Given the description of an element on the screen output the (x, y) to click on. 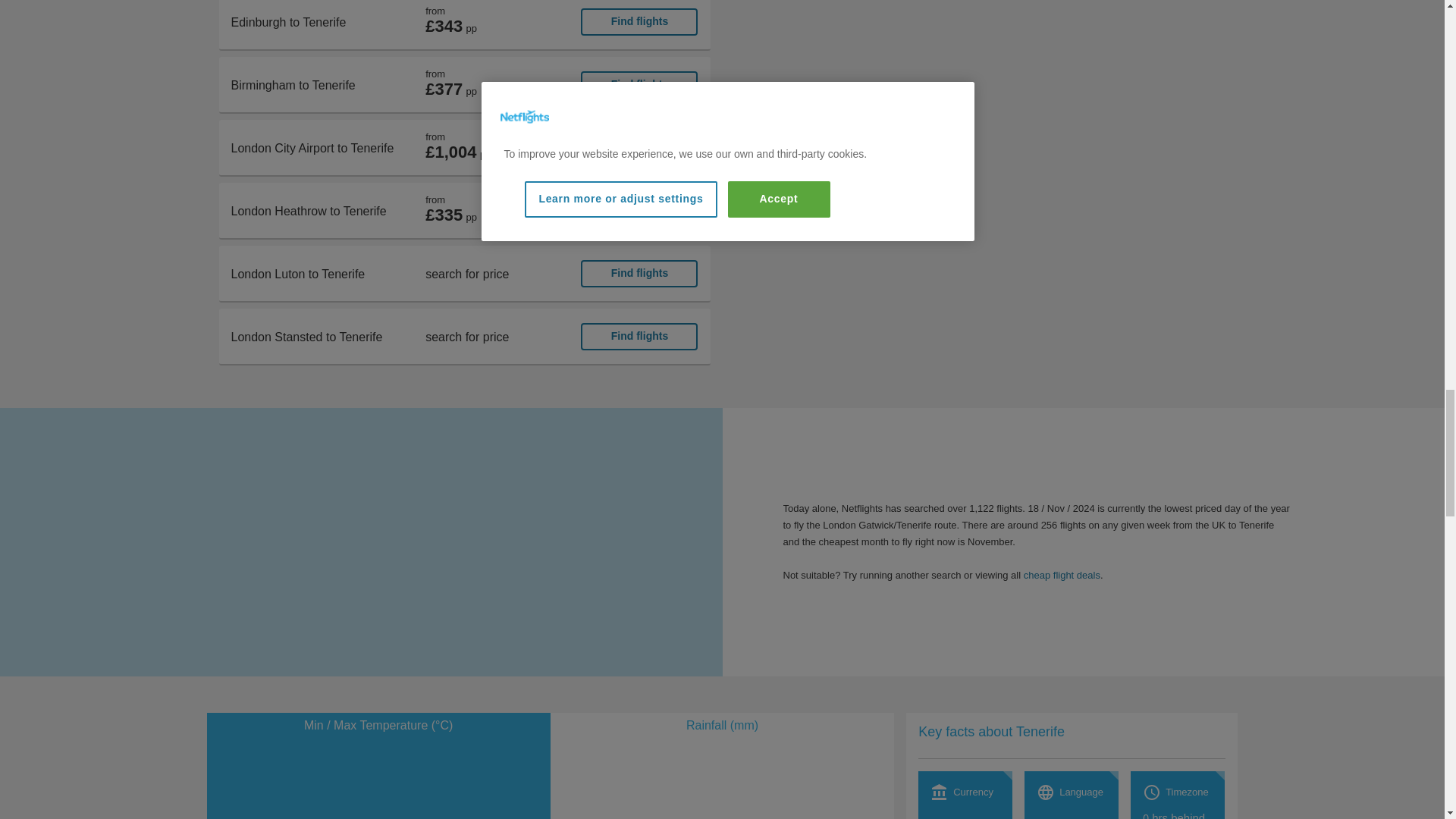
cheap flight deals (1061, 574)
